Given the description of an element on the screen output the (x, y) to click on. 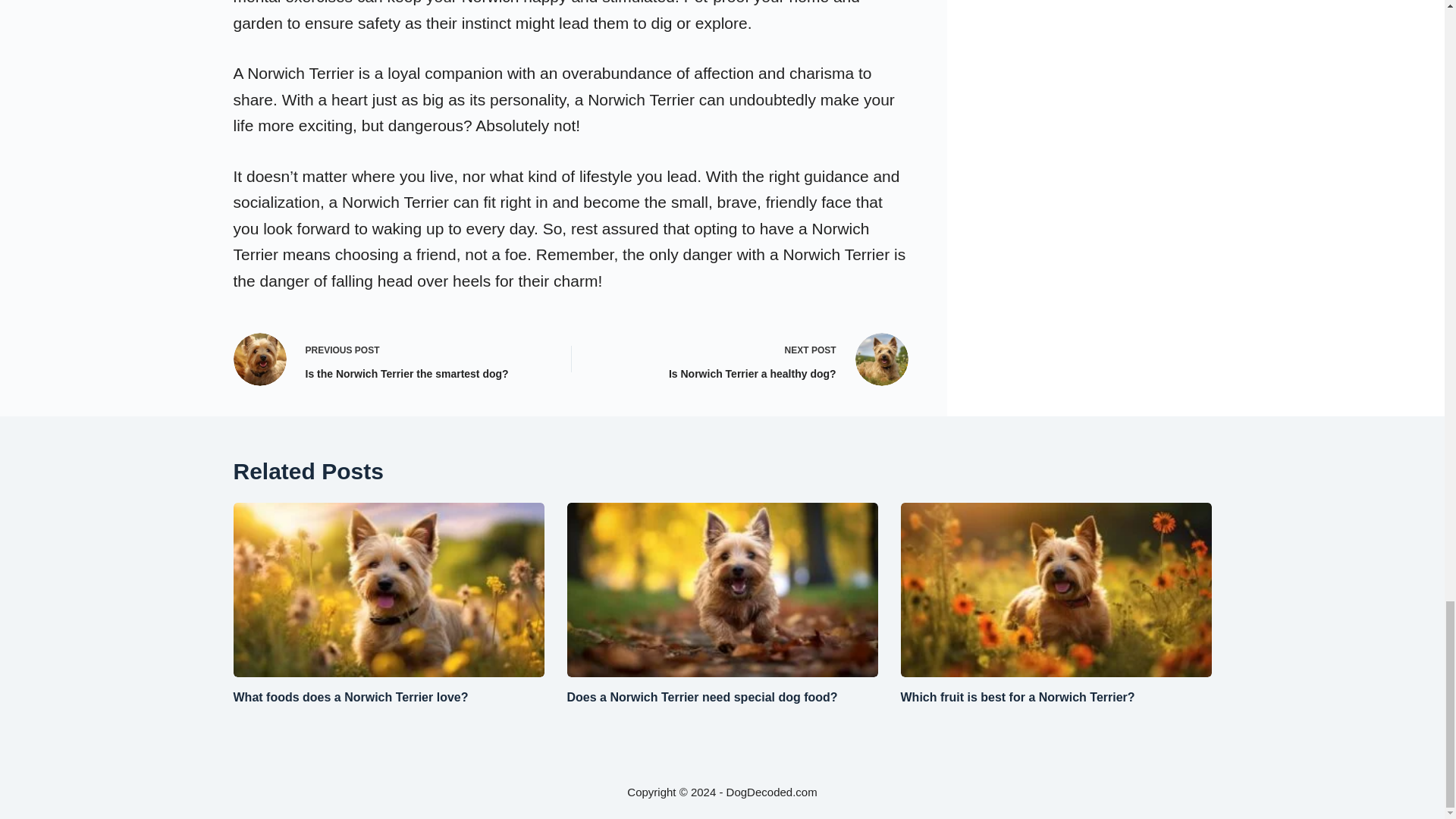
Does a Norwich Terrier need special dog food? (702, 697)
What foods does a Norwich Terrier love? (751, 358)
Which fruit is best for a Norwich Terrier? (350, 697)
